Given the description of an element on the screen output the (x, y) to click on. 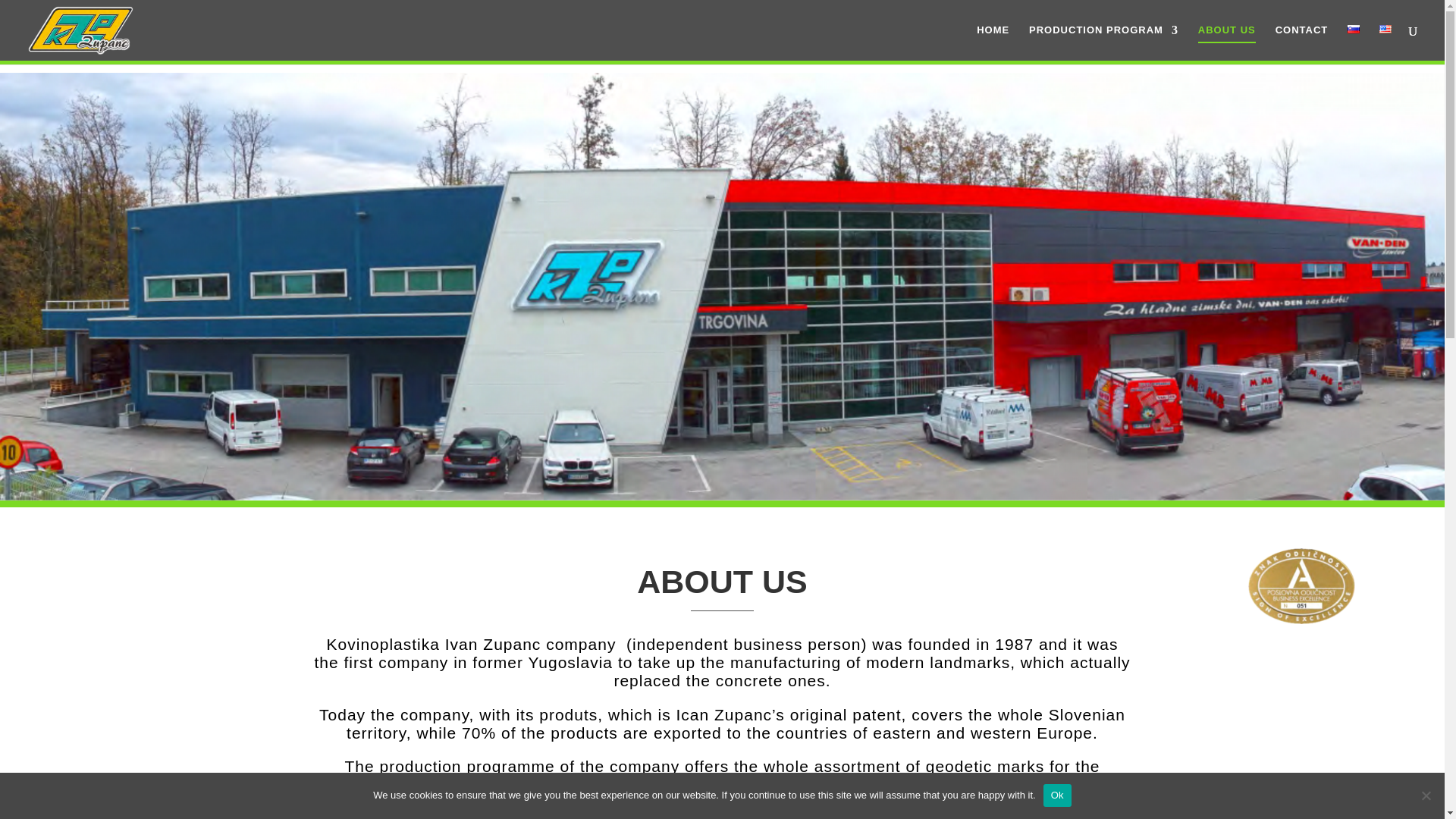
PRODUCTION PROGRAM (1103, 42)
ABOUT US (1226, 42)
CONTACT (1301, 42)
No (1425, 795)
HOME (992, 42)
Ok (1057, 794)
